Given the description of an element on the screen output the (x, y) to click on. 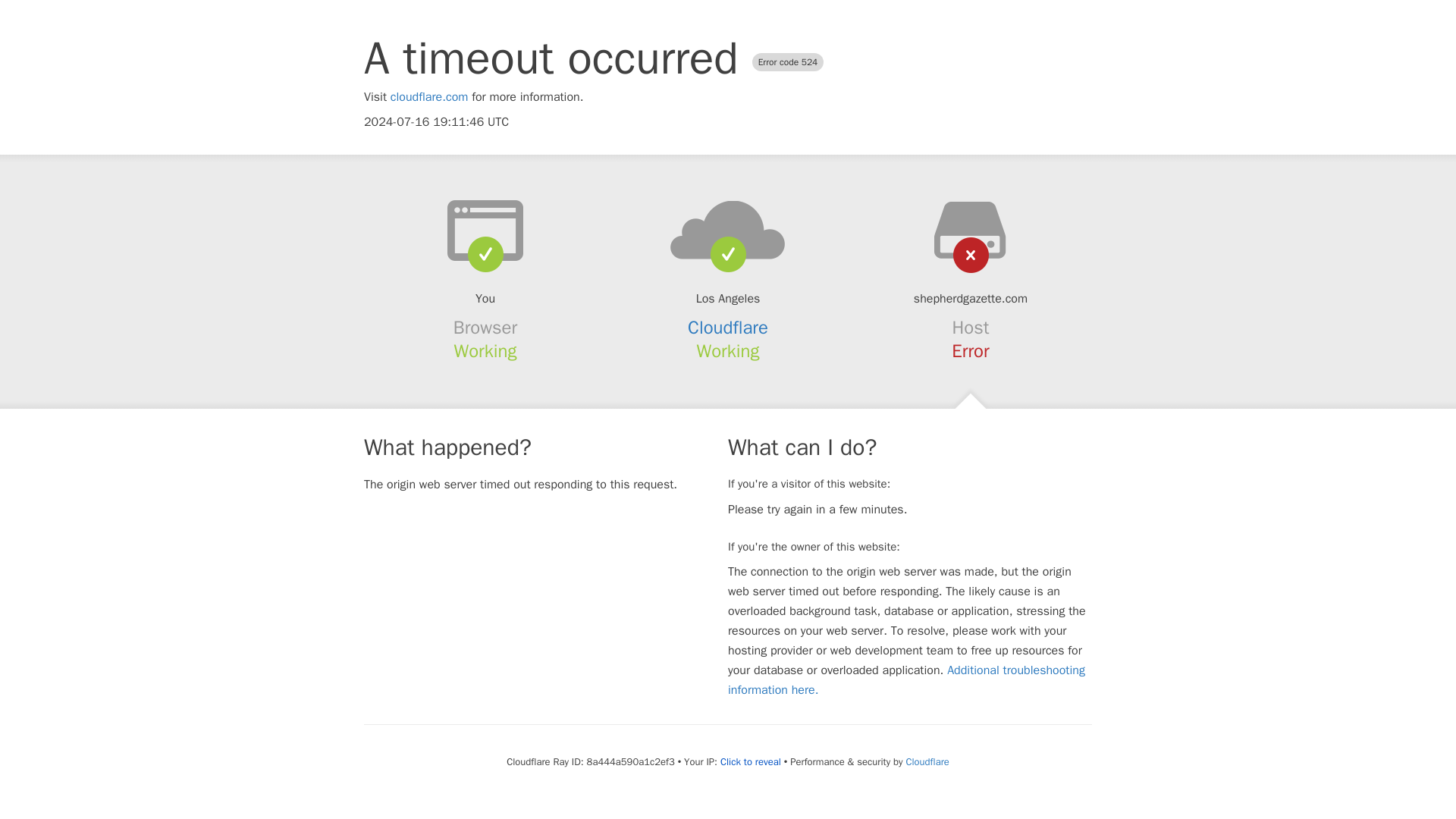
Click to reveal (750, 762)
Cloudflare (727, 327)
Cloudflare (927, 761)
cloudflare.com (429, 96)
Additional troubleshooting information here. (906, 679)
